Given the description of an element on the screen output the (x, y) to click on. 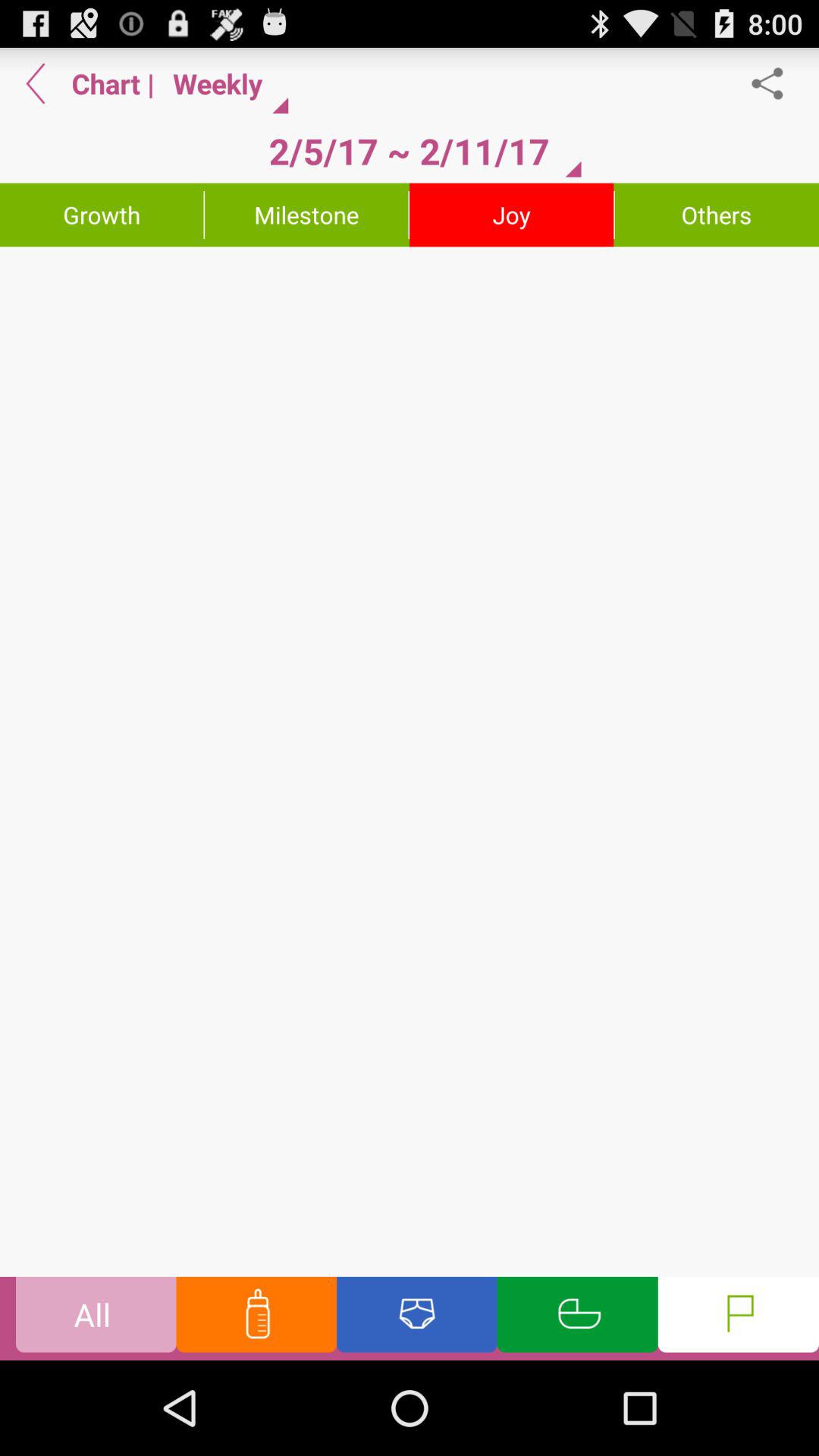
swipe until the others icon (716, 214)
